Given the description of an element on the screen output the (x, y) to click on. 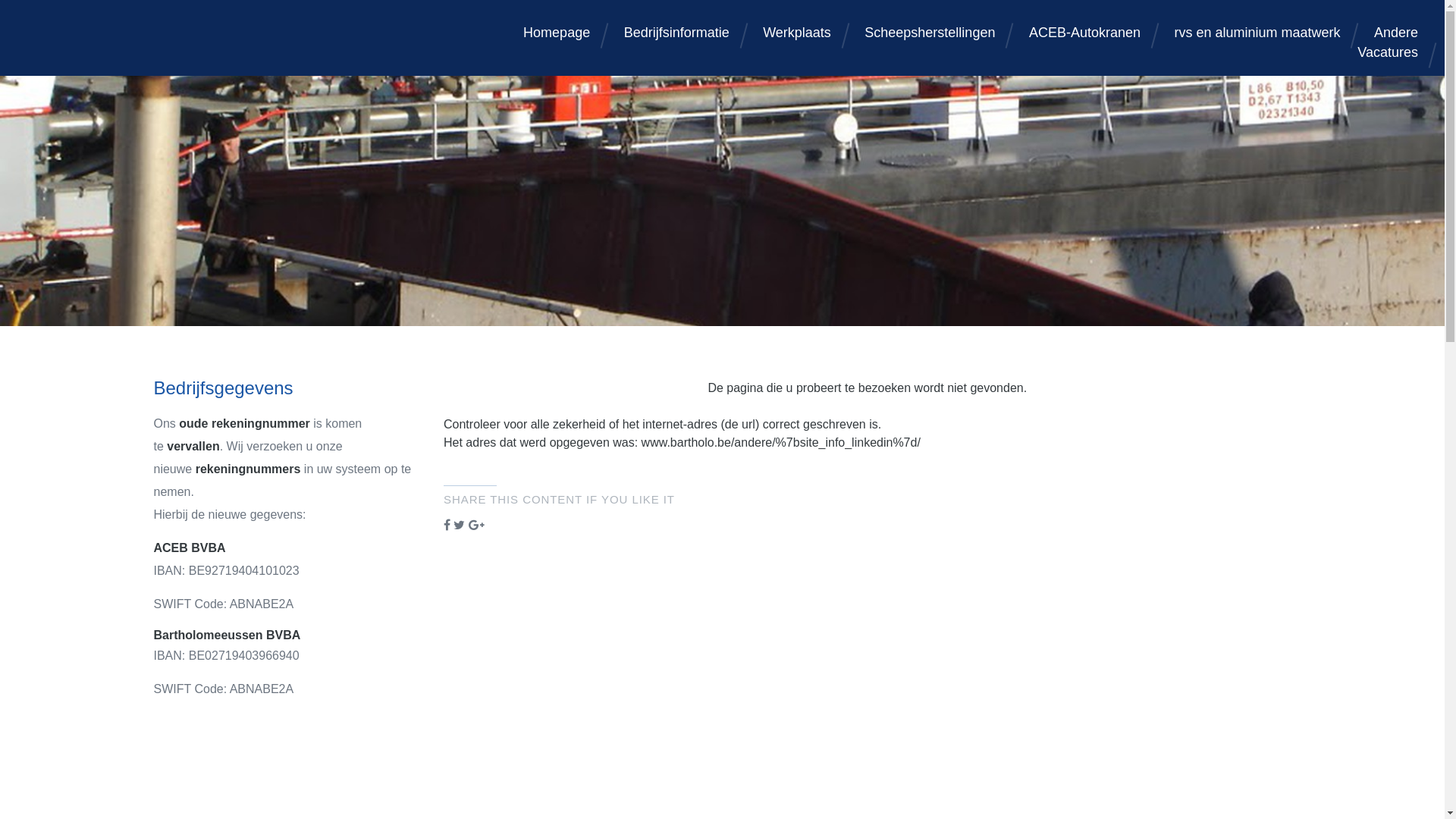
Scheepsherstellingen Element type: text (929, 32)
Bedrijfsinformatie Element type: text (676, 32)
Vacatures Element type: text (1387, 51)
Andere Element type: text (1396, 32)
Werkplaats Element type: text (796, 32)
Homepage Element type: text (556, 32)
ACEB-Autokranen Element type: text (1084, 32)
rvs en aluminium maatwerk Element type: text (1256, 32)
